Given the description of an element on the screen output the (x, y) to click on. 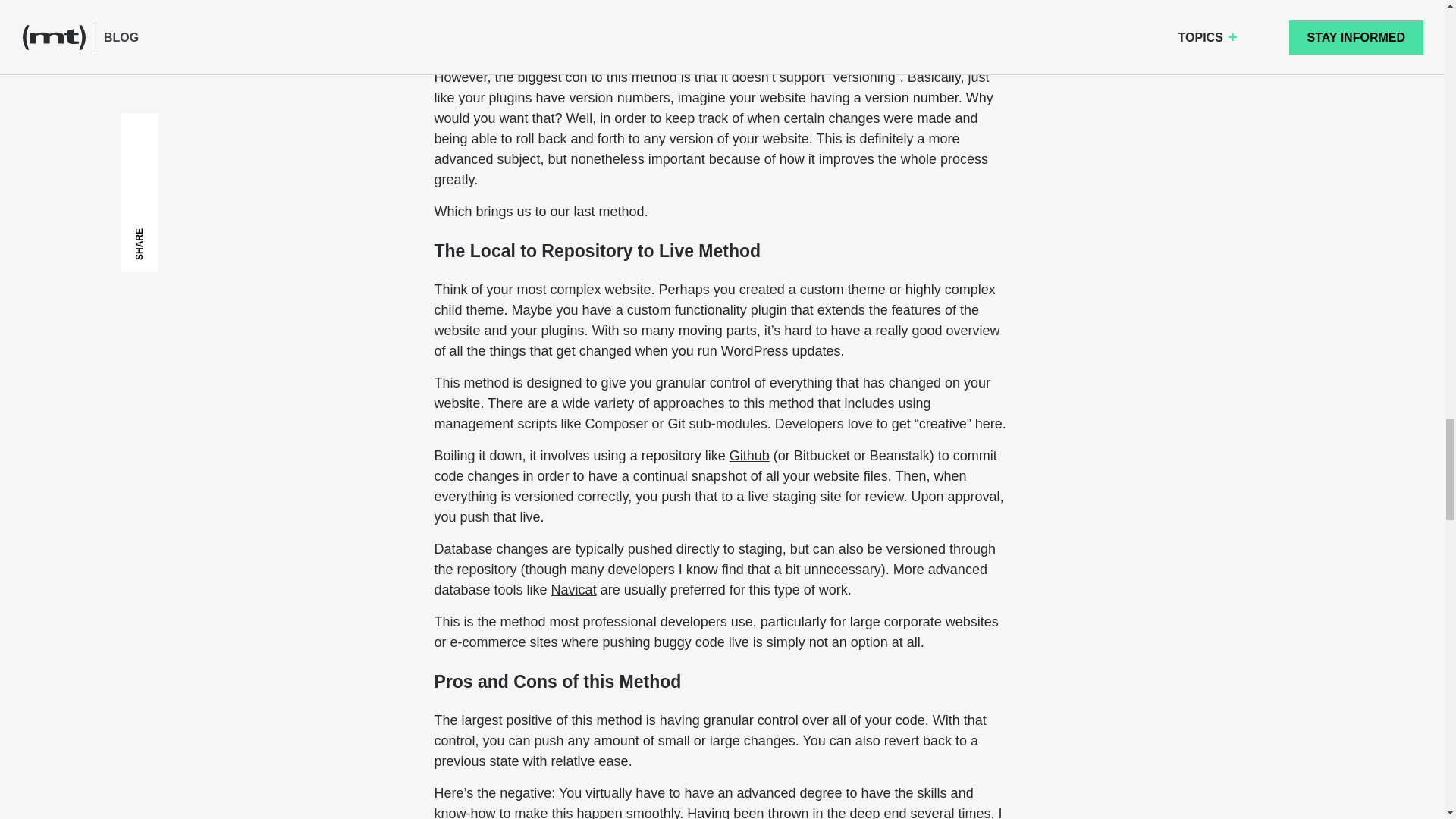
Navicat (573, 589)
Github (749, 455)
